Given the description of an element on the screen output the (x, y) to click on. 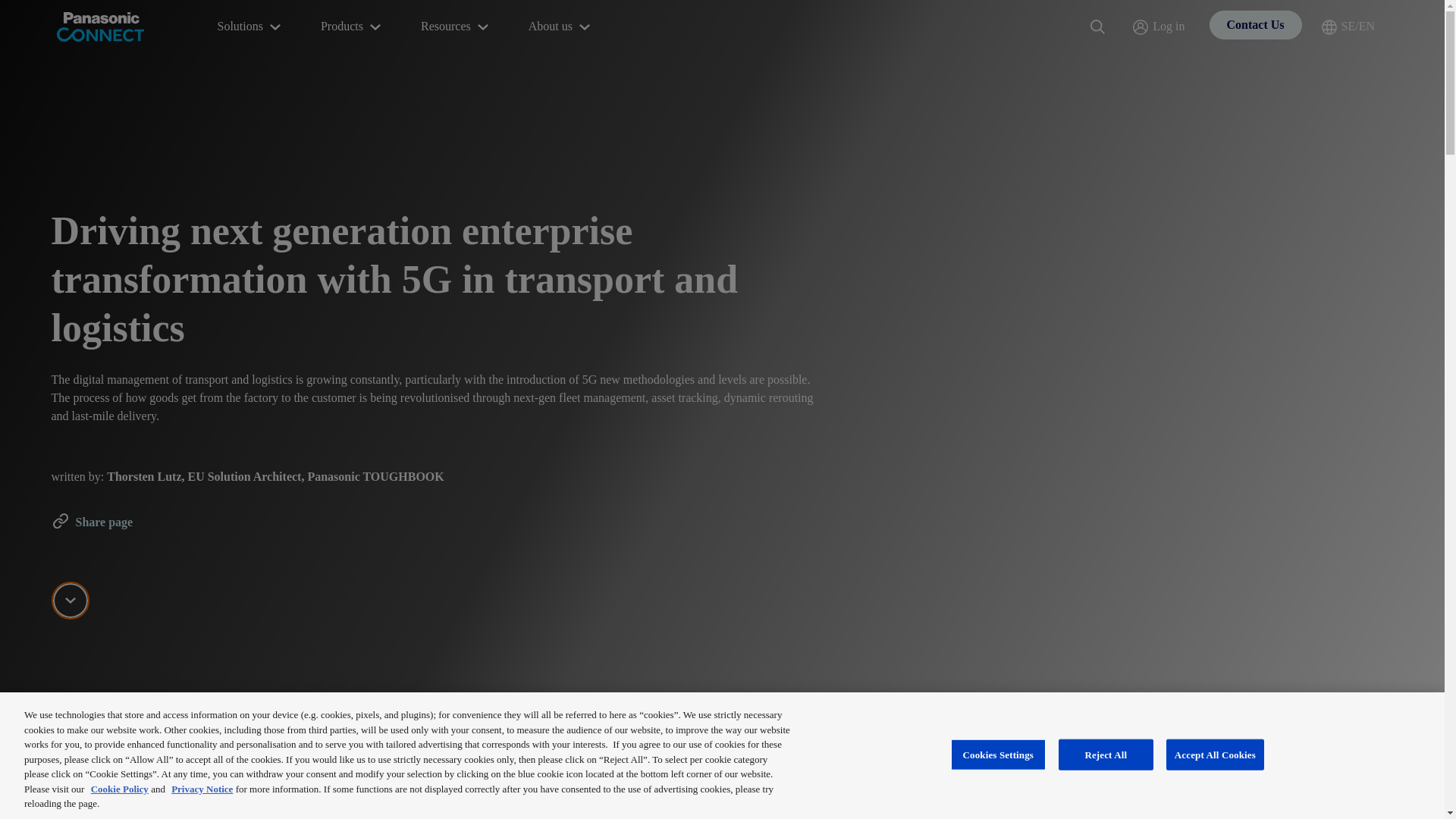
Products (352, 26)
Solutions (250, 26)
Resources (455, 26)
